Given the description of an element on the screen output the (x, y) to click on. 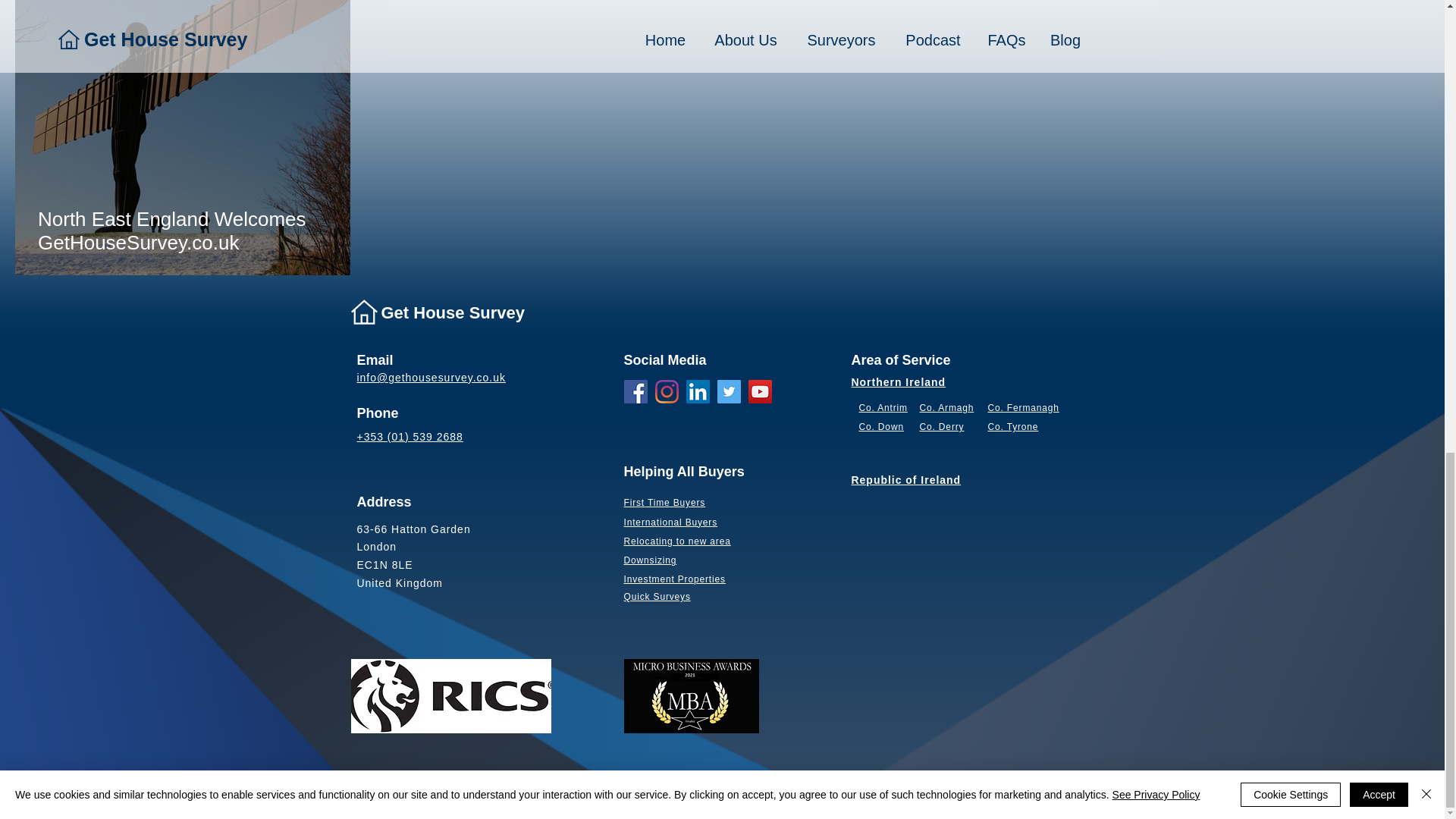
Embedded Content (1187, 438)
